Given the description of an element on the screen output the (x, y) to click on. 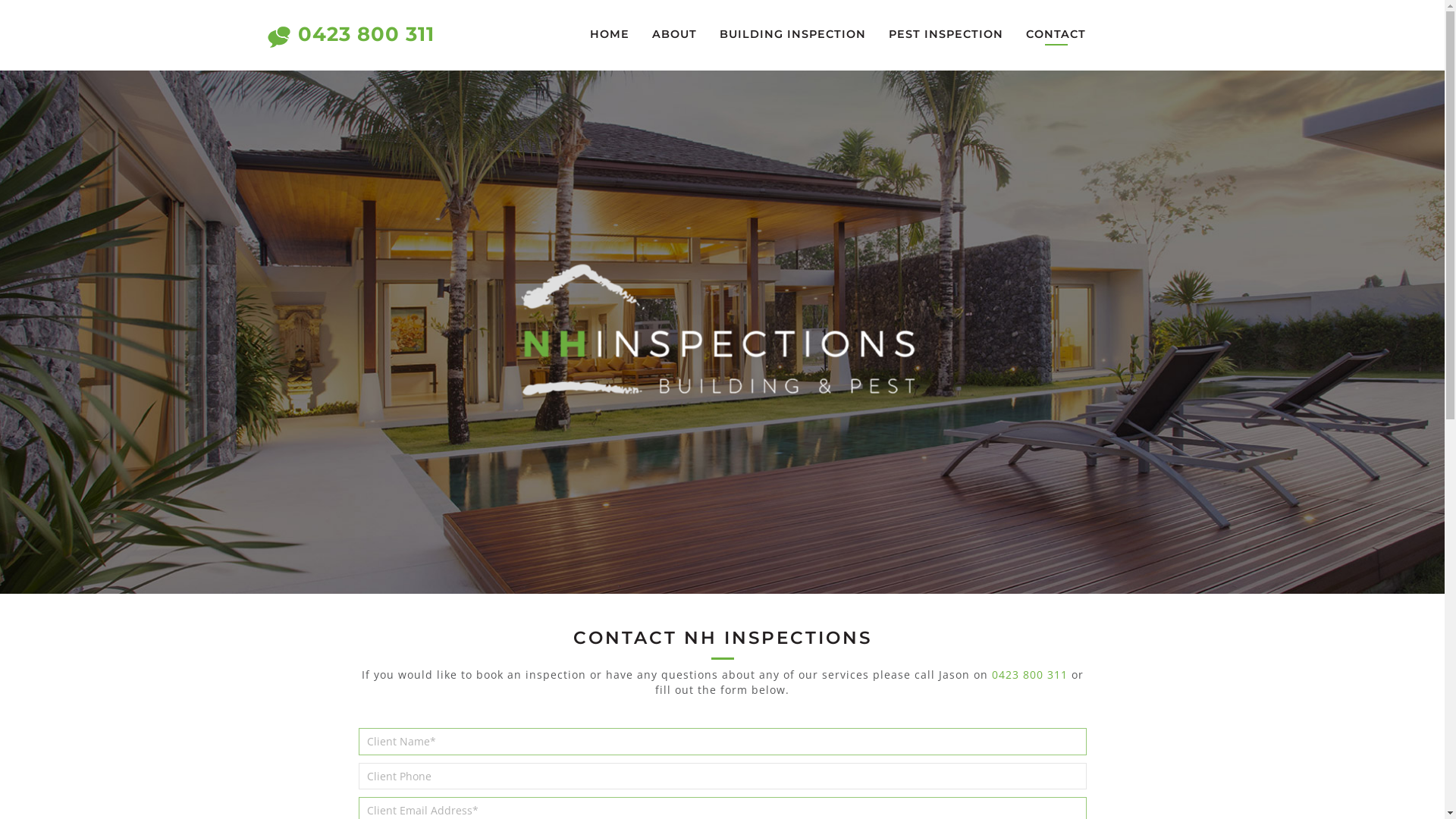
0423 800 311 Element type: text (1029, 674)
BUILDING INSPECTION Element type: text (792, 33)
CONTACT Element type: text (1055, 33)
NH Inspections T/as Nirvana Homes Pty Ltd Element type: hover (722, 331)
PEST INSPECTION Element type: text (945, 33)
0423 800 311 Element type: text (366, 33)
ABOUT Element type: text (674, 33)
HOME Element type: text (609, 33)
